Given the description of an element on the screen output the (x, y) to click on. 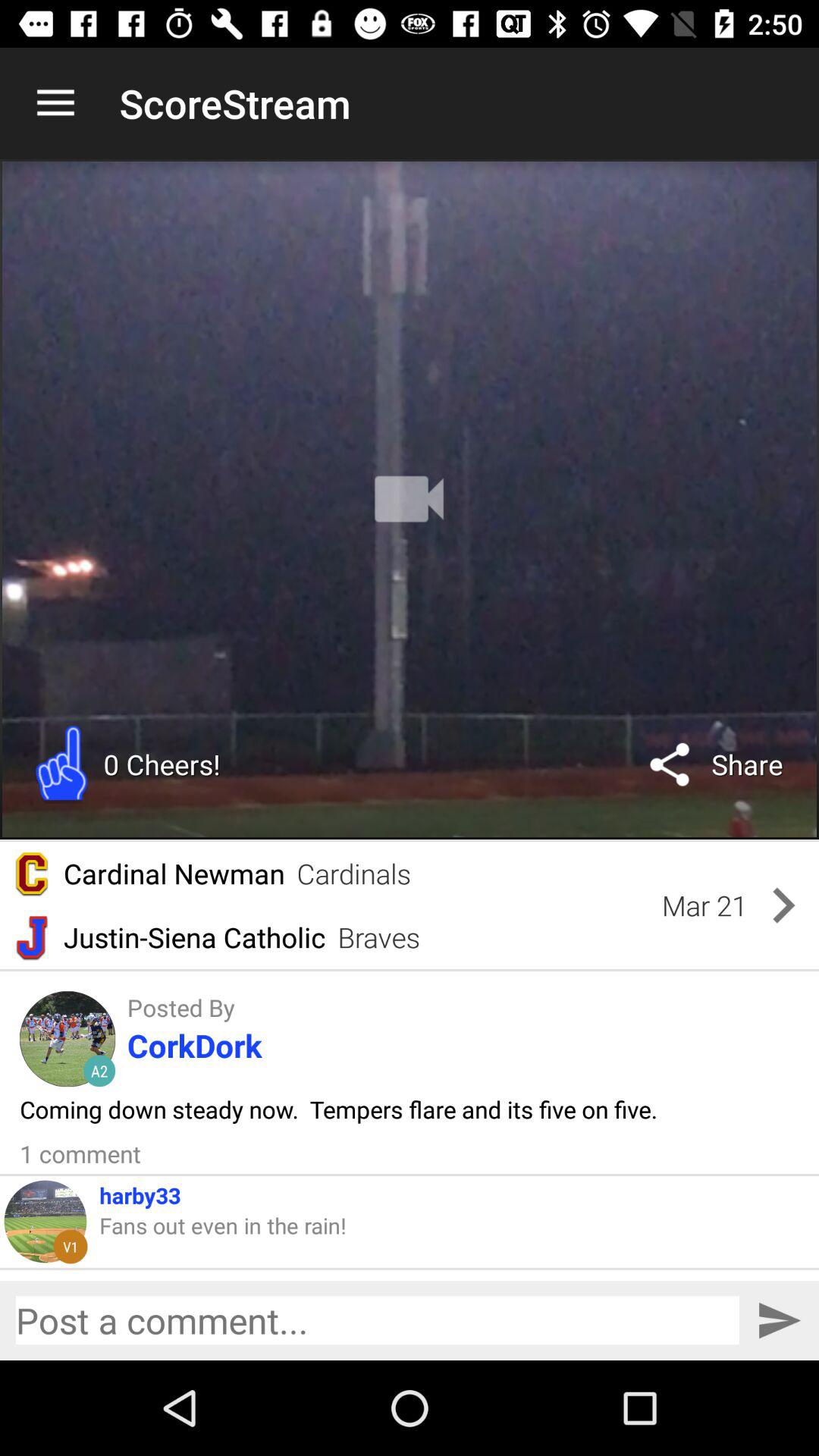
share the view point (377, 1320)
